Given the description of an element on the screen output the (x, y) to click on. 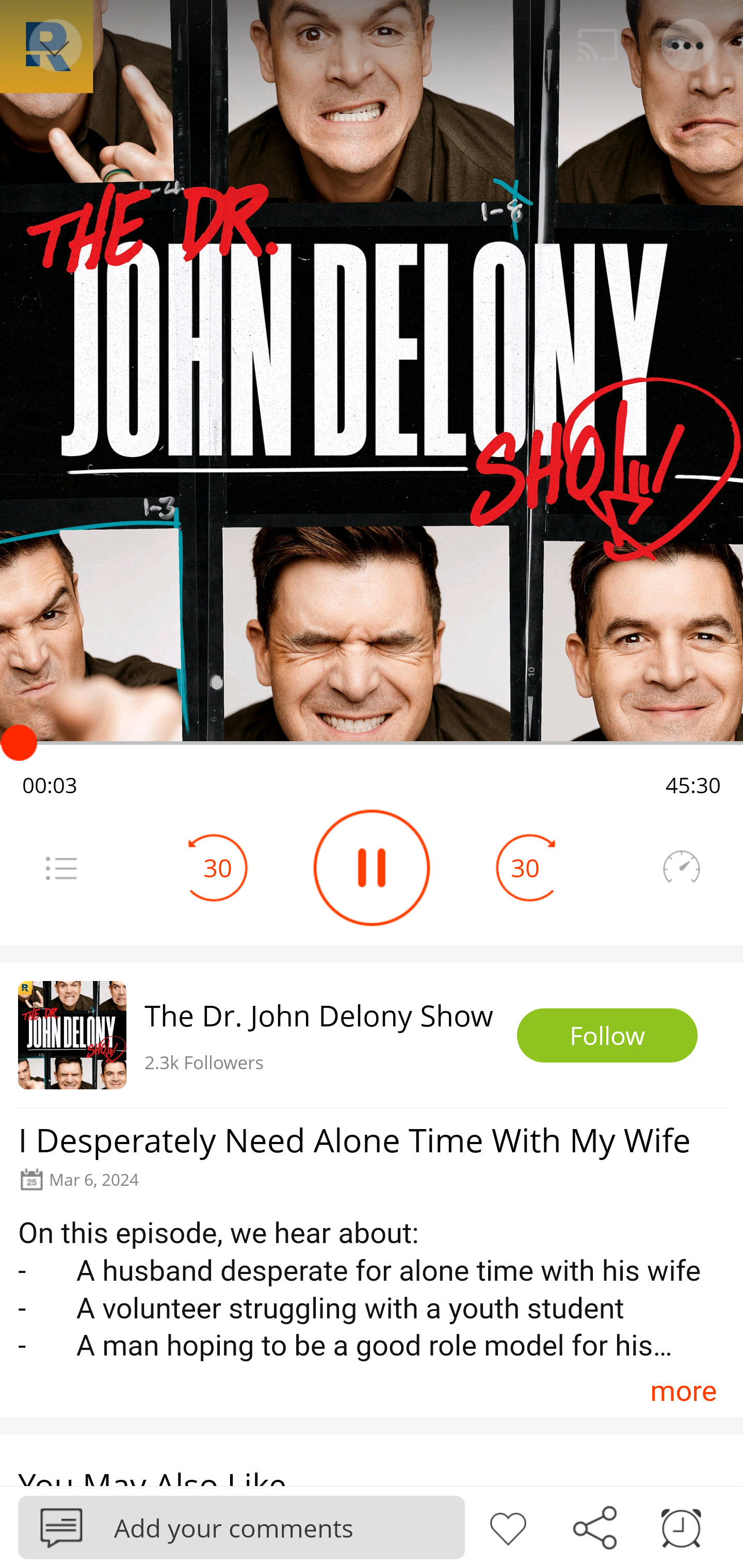
Back (53, 45)
Cast. Disconnected (597, 45)
Menu (688, 45)
Play (371, 867)
30 Seek Backward (217, 867)
30 Seek Forward (525, 867)
Menu (60, 867)
Speedometer (681, 867)
The Dr. John Delony Show 2.3k Followers Follow (371, 1034)
Follow (607, 1035)
more (682, 1390)
Like (508, 1526)
Share (594, 1526)
Sleep timer (681, 1526)
Podbean Add your comments (241, 1526)
